Given the description of an element on the screen output the (x, y) to click on. 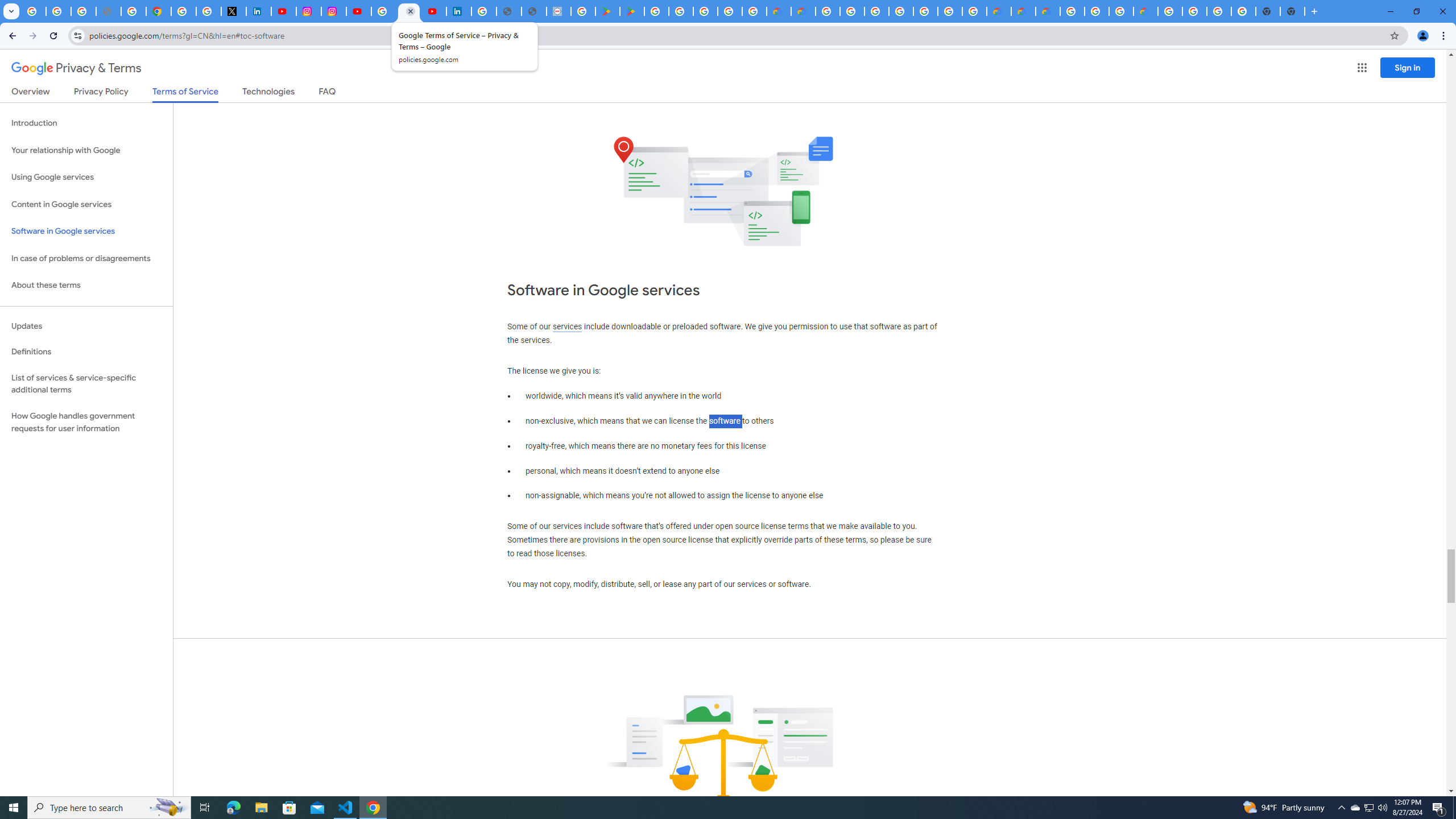
YouTube Content Monetization Policies - How YouTube Works (283, 11)
Google Workspace - Specific Terms (728, 11)
User Details (533, 11)
Google Cloud Platform (1170, 11)
Google Cloud Platform (1194, 11)
LinkedIn Privacy Policy (258, 11)
